Given the description of an element on the screen output the (x, y) to click on. 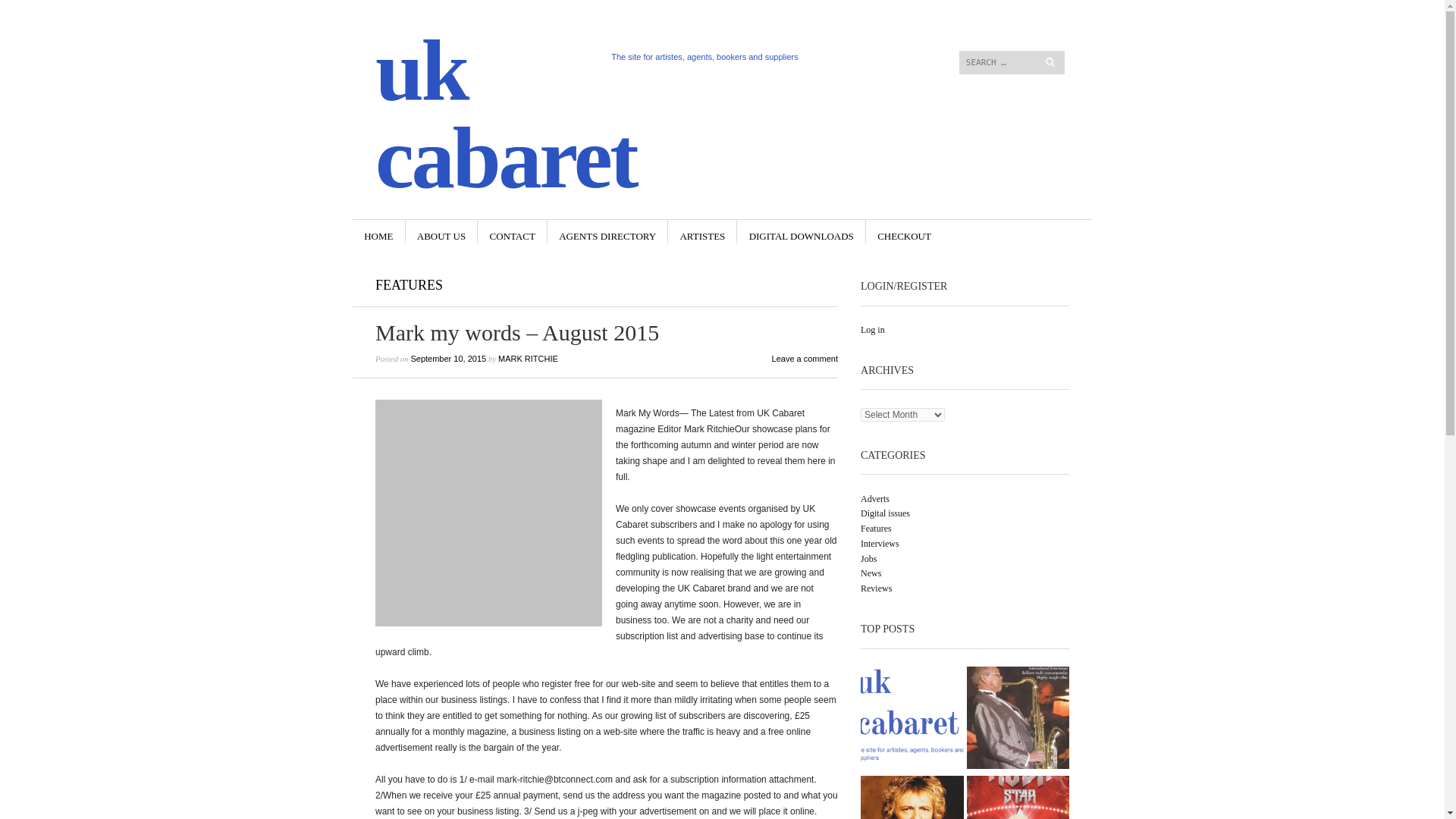
Skip to content (406, 231)
Search (86, 11)
CONTACT (511, 231)
News (870, 573)
ABOUT US (440, 231)
Log in (872, 329)
Features (875, 528)
Interviews (879, 543)
Skip to content (885, 23)
DIGITAL DOWNLOADS (801, 231)
1:40 pm (448, 358)
Adverts (874, 498)
Skip to content (885, 23)
FEATURES (408, 284)
September 10, 2015 (448, 358)
